Given the description of an element on the screen output the (x, y) to click on. 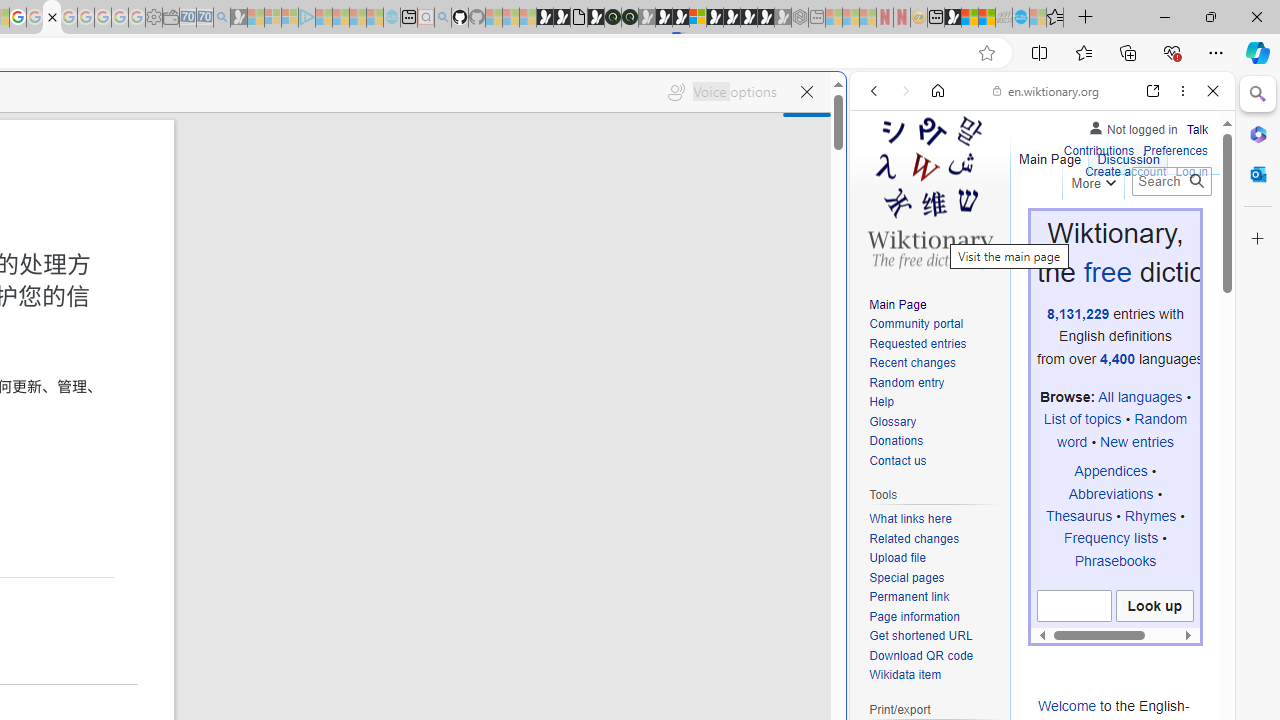
Glossary (934, 421)
Permanent link (934, 597)
Visit the main page (929, 190)
Thesaurus (1079, 515)
Go (1196, 181)
Contributions (1098, 148)
